Given the description of an element on the screen output the (x, y) to click on. 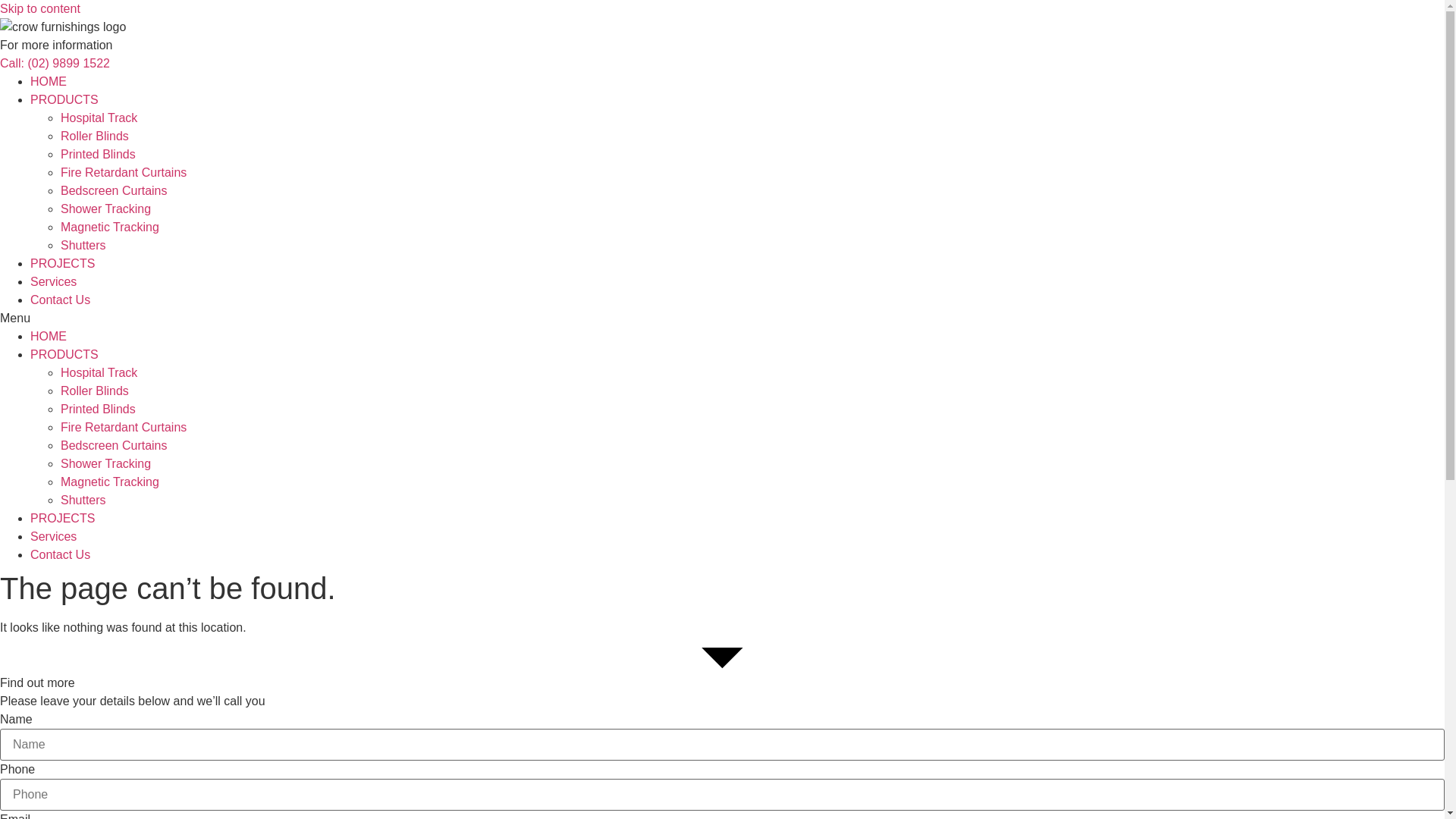
Skip to content Element type: text (40, 8)
Hospital Track Element type: text (98, 372)
Roller Blinds Element type: text (94, 135)
Shower Tracking Element type: text (105, 463)
HOME Element type: text (48, 335)
PROJECTS Element type: text (62, 517)
Services Element type: text (53, 536)
PRODUCTS Element type: text (64, 354)
PRODUCTS Element type: text (64, 99)
Magnetic Tracking Element type: text (109, 226)
Printed Blinds Element type: text (97, 408)
Call: (02) 9899 1522 Element type: text (54, 62)
Magnetic Tracking Element type: text (109, 481)
PROJECTS Element type: text (62, 263)
Contact Us Element type: text (60, 299)
HOME Element type: text (48, 81)
Printed Blinds Element type: text (97, 153)
Shutters Element type: text (83, 244)
Services Element type: text (53, 281)
Bedscreen Curtains Element type: text (113, 445)
Roller Blinds Element type: text (94, 390)
Shutters Element type: text (83, 499)
Fire Retardant Curtains Element type: text (123, 426)
Bedscreen Curtains Element type: text (113, 190)
Hospital Track Element type: text (98, 117)
Contact Us Element type: text (60, 554)
Fire Retardant Curtains Element type: text (123, 172)
Shower Tracking Element type: text (105, 208)
